Given the description of an element on the screen output the (x, y) to click on. 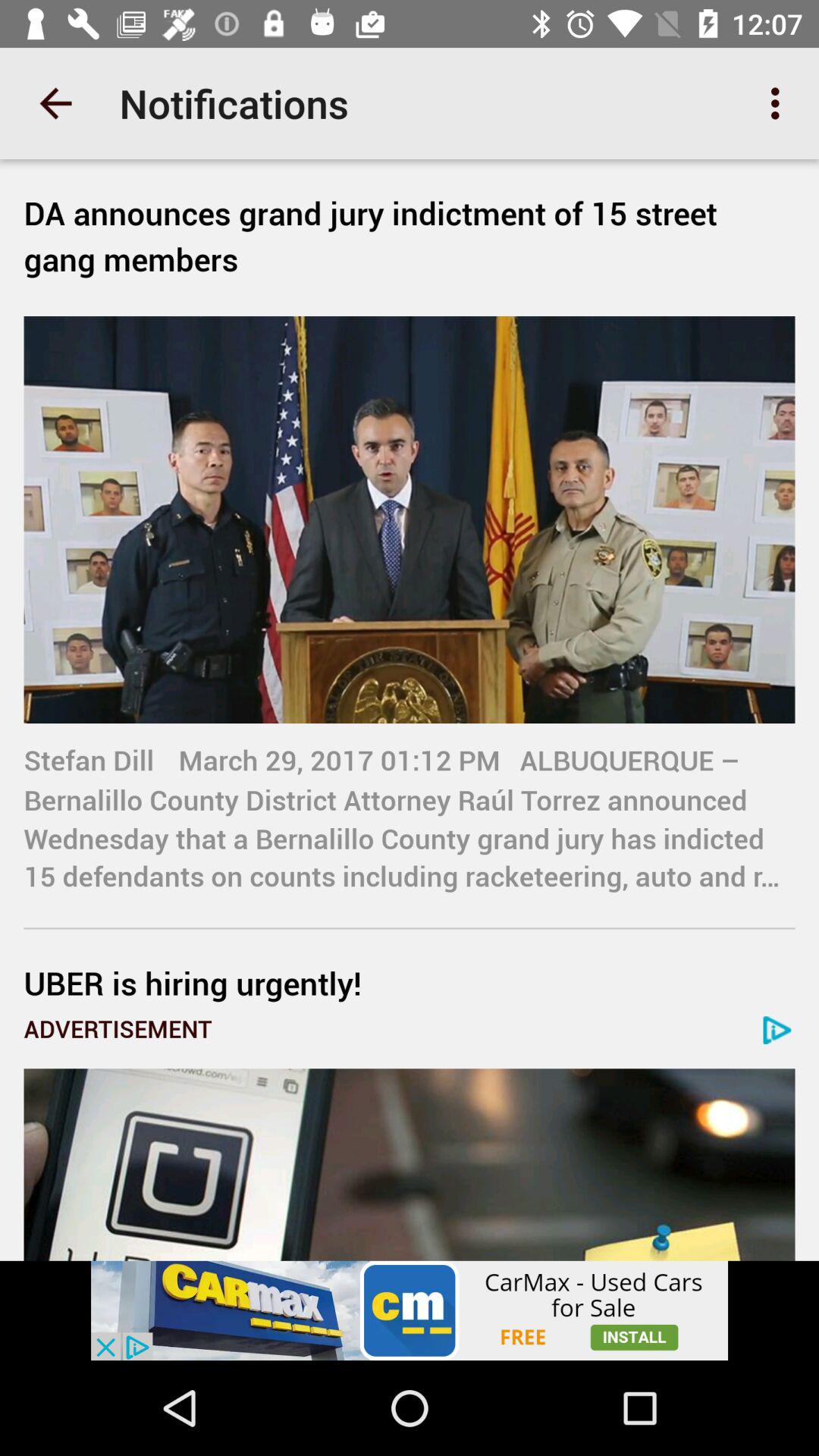
select the uber is hiring icon (409, 982)
